Given the description of an element on the screen output the (x, y) to click on. 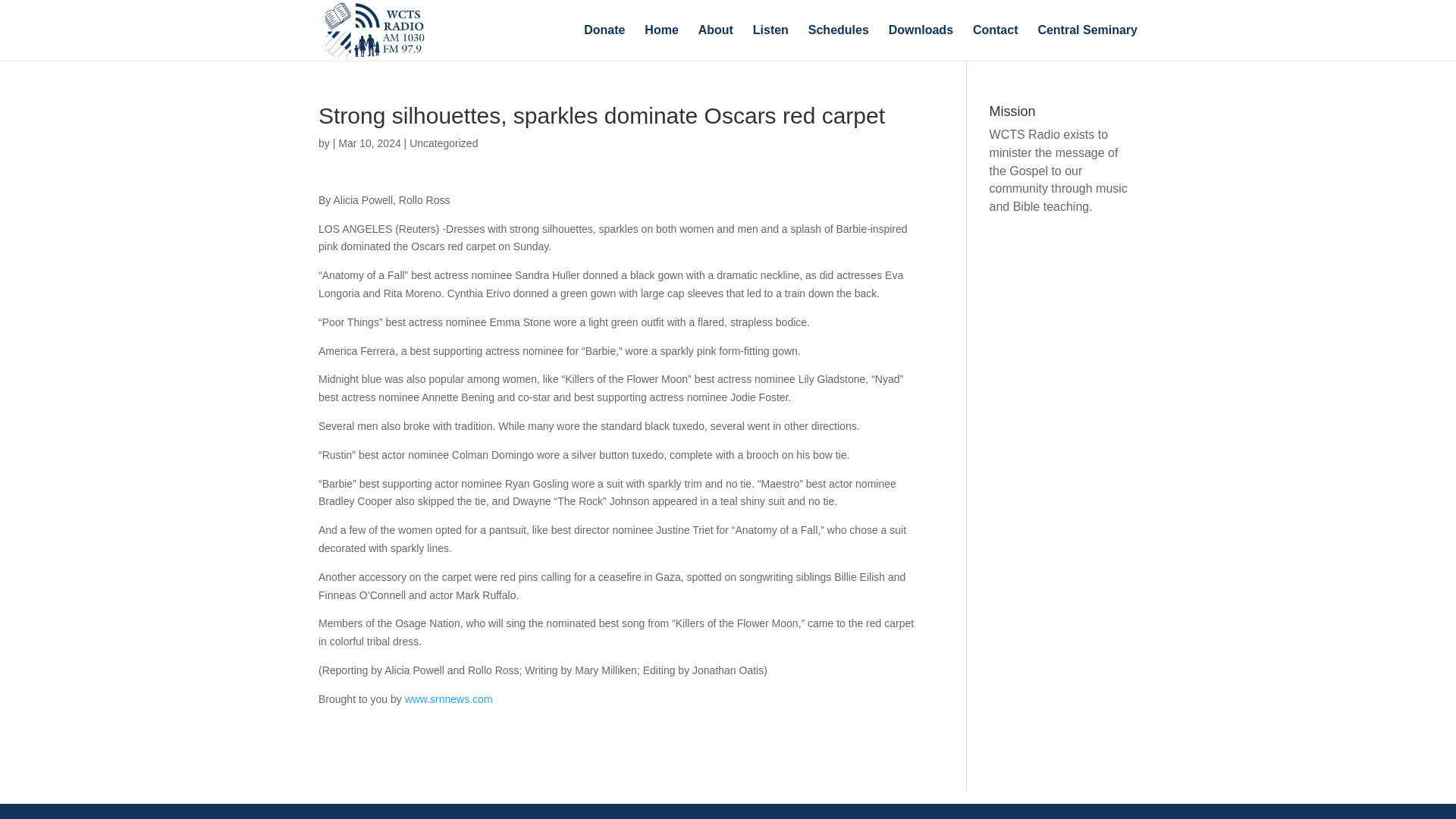
About (715, 42)
Listen (770, 42)
Uncategorized (443, 143)
Schedules (838, 42)
Central Seminary (1086, 42)
Home (661, 42)
www.srnnews.com (448, 698)
Contact (994, 42)
Donate (603, 42)
Downloads (920, 42)
